Given the description of an element on the screen output the (x, y) to click on. 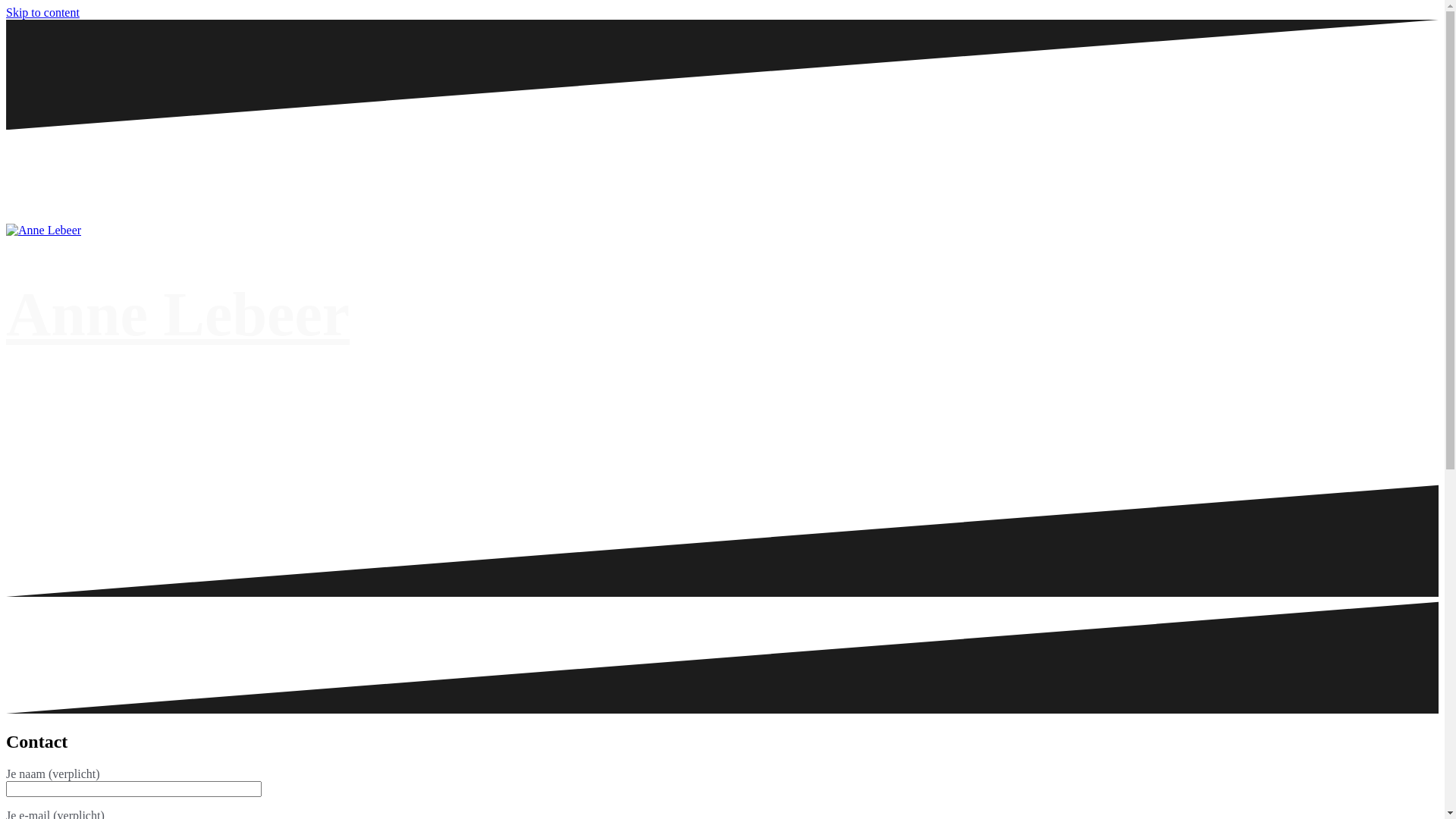
Anne Lebeer Element type: text (177, 313)
Anne Lebeer Element type: hover (43, 229)
Skip to content Element type: text (42, 12)
